Given the description of an element on the screen output the (x, y) to click on. 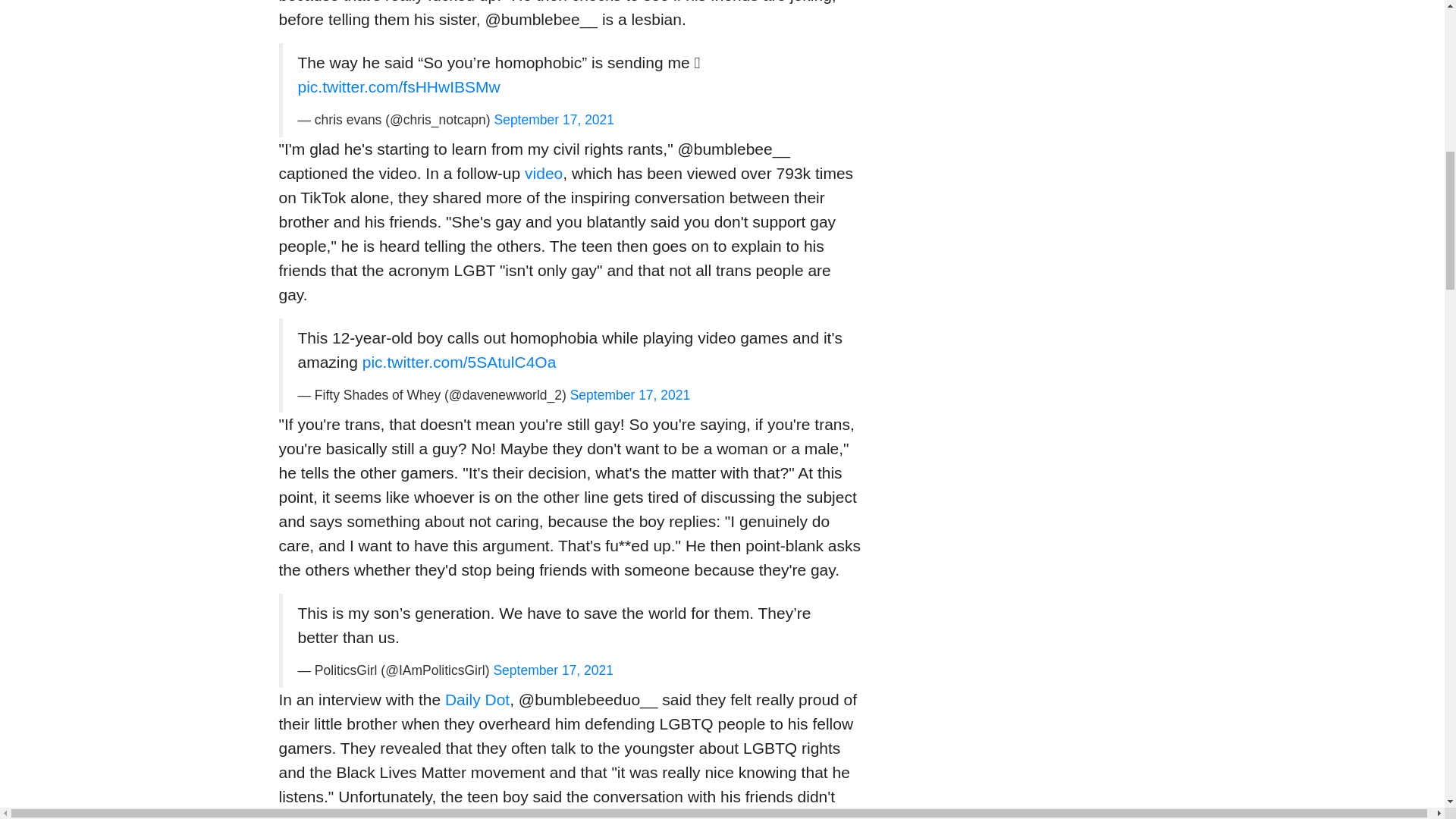
September 17, 2021 (630, 394)
Daily Dot (477, 699)
video (543, 172)
September 17, 2021 (553, 119)
September 17, 2021 (552, 670)
